Given the description of an element on the screen output the (x, y) to click on. 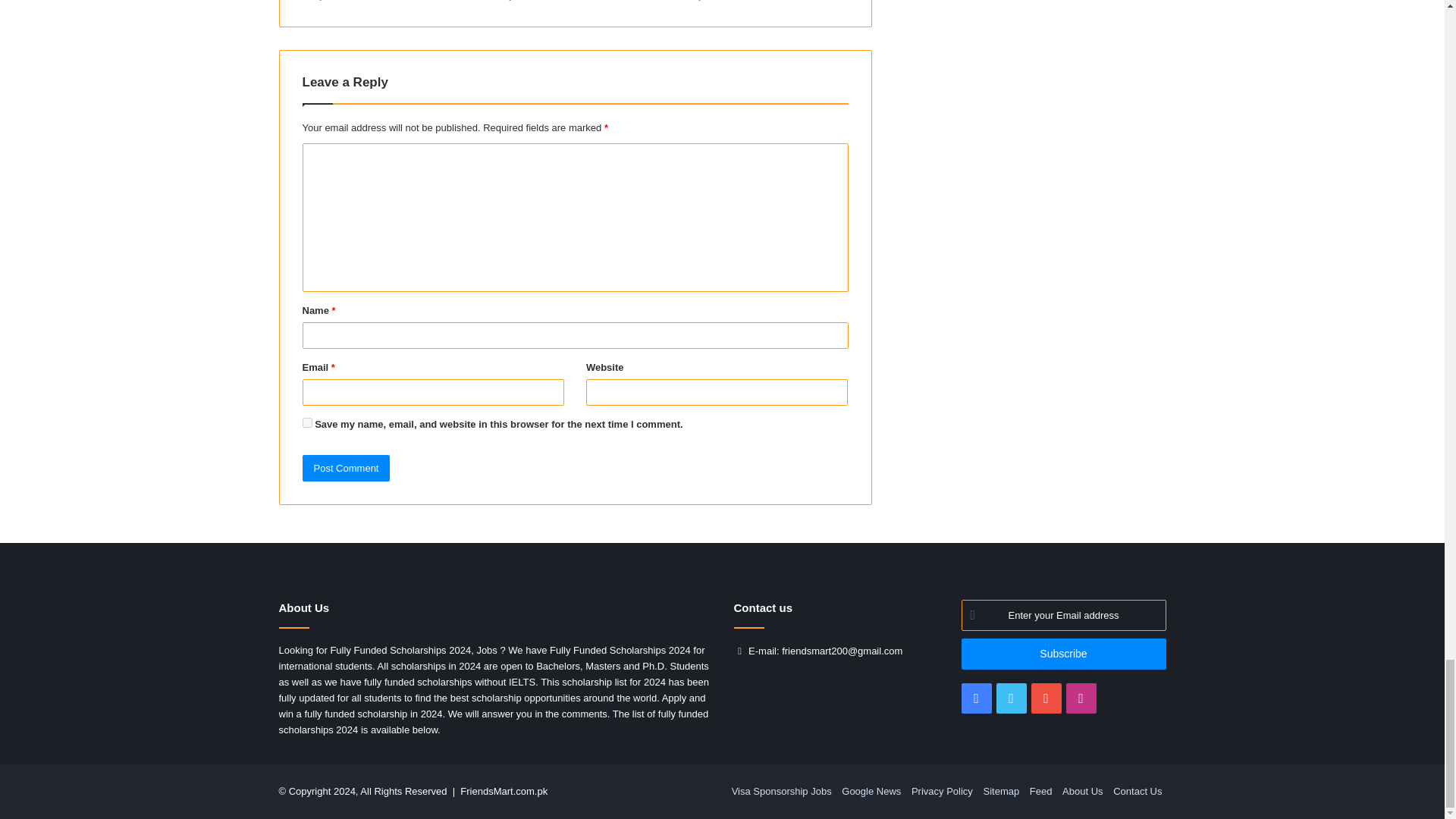
Post Comment (345, 468)
yes (306, 422)
Subscribe (1063, 653)
